Given the description of an element on the screen output the (x, y) to click on. 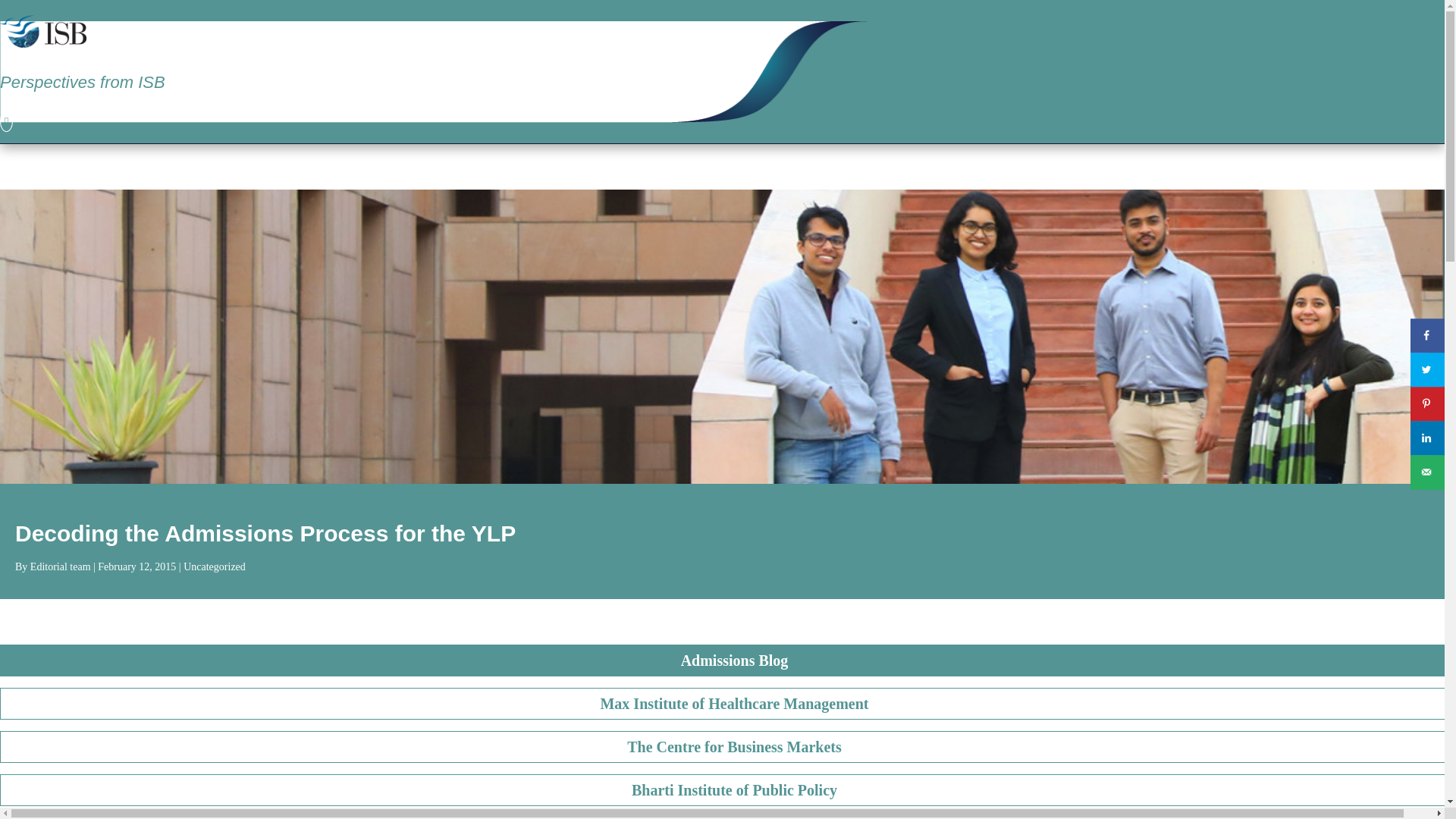
Share on Twitter (1427, 369)
The Centre for Business Markets (728, 746)
Save to Pinterest (1427, 403)
Max Institute of Healthcare Management (728, 703)
Share on LinkedIn (1427, 437)
Admissions Blog (728, 660)
Bharti Institute of Public Policy (728, 789)
Uncategorized (214, 566)
Send over email (1427, 471)
Share on Facebook (1427, 335)
